Given the description of an element on the screen output the (x, y) to click on. 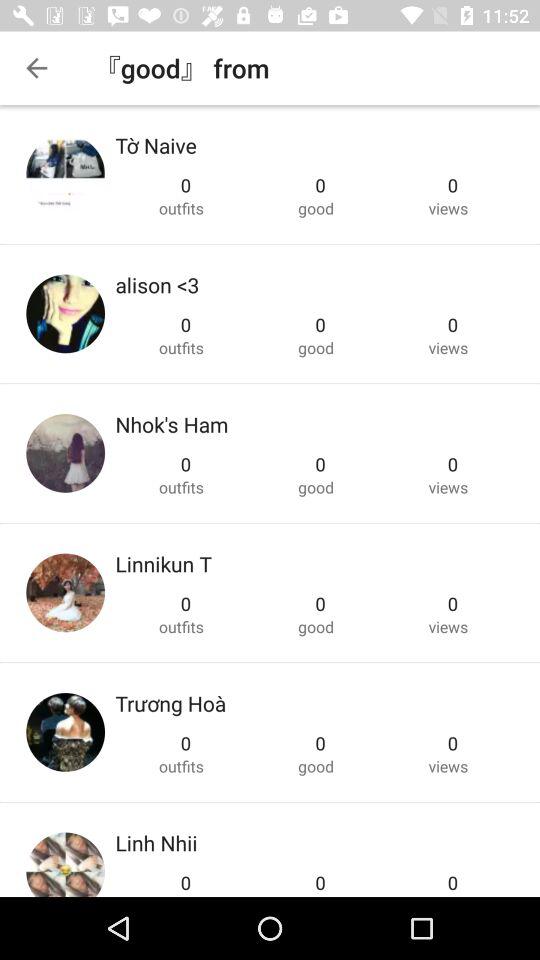
jump until the linh nhii (156, 842)
